Given the description of an element on the screen output the (x, y) to click on. 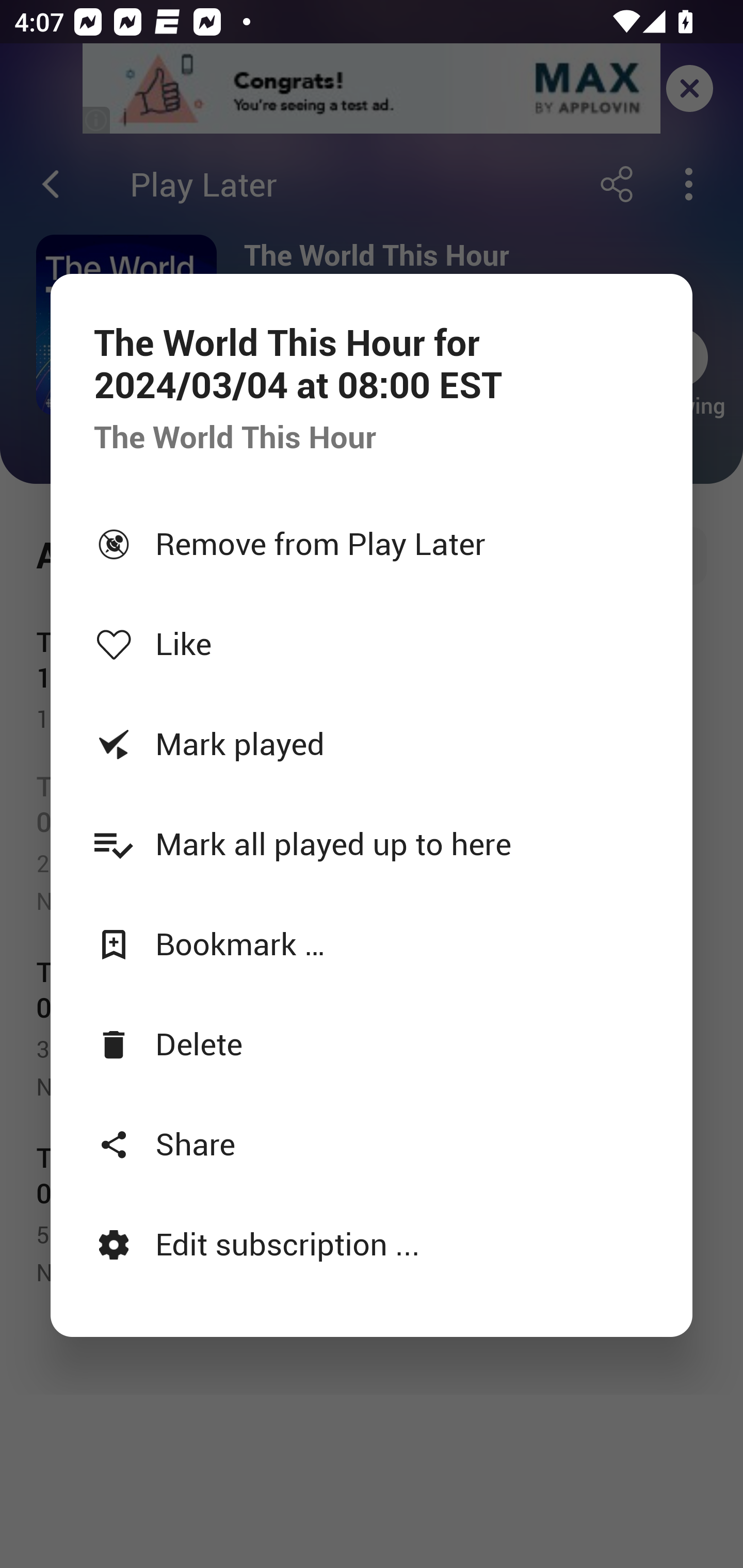
Remove from Play Later (371, 542)
Like (371, 642)
Mark played (371, 743)
Mark all played up to here (371, 843)
Bookmark … (371, 943)
Delete (371, 1043)
Share (371, 1142)
Edit subscription ... (371, 1243)
